Given the description of an element on the screen output the (x, y) to click on. 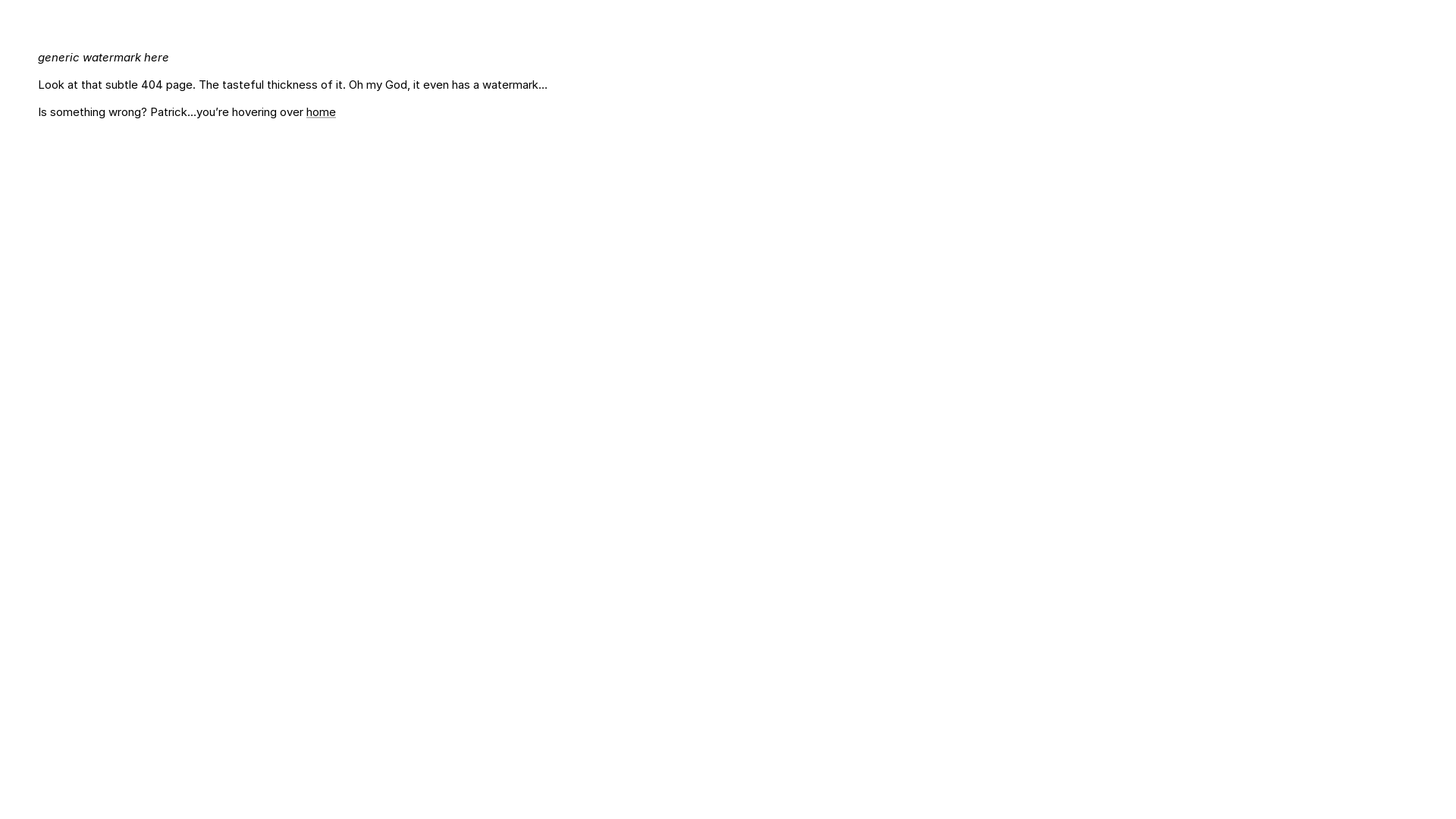
home Element type: text (320, 111)
